Given the description of an element on the screen output the (x, y) to click on. 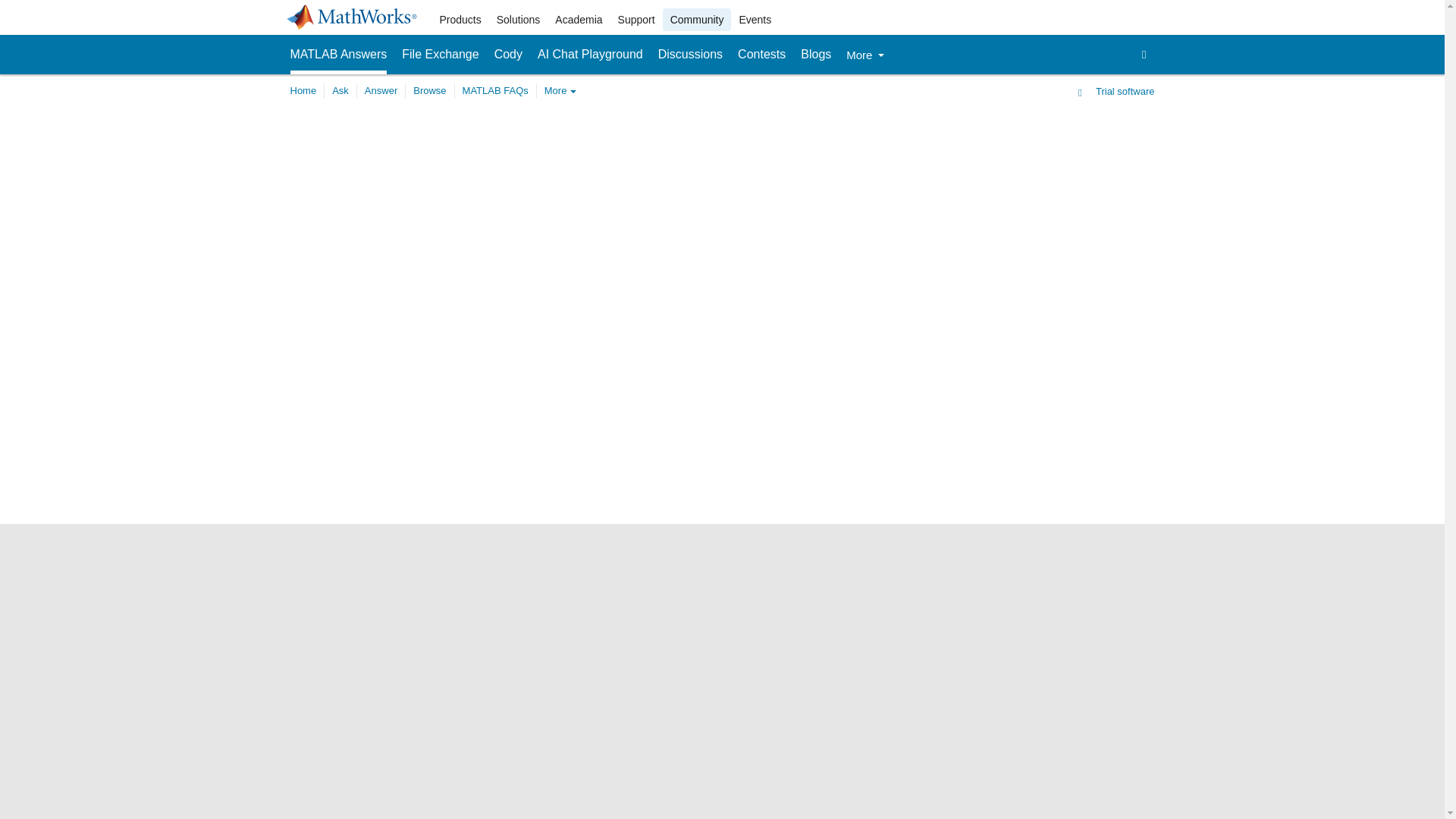
Products (460, 19)
Community (697, 19)
MATLAB Answers (338, 54)
Contests (762, 54)
Cody (508, 54)
More (864, 54)
Discussions (690, 54)
Events (754, 19)
File Exchange (440, 54)
Support (636, 19)
